Given the description of an element on the screen output the (x, y) to click on. 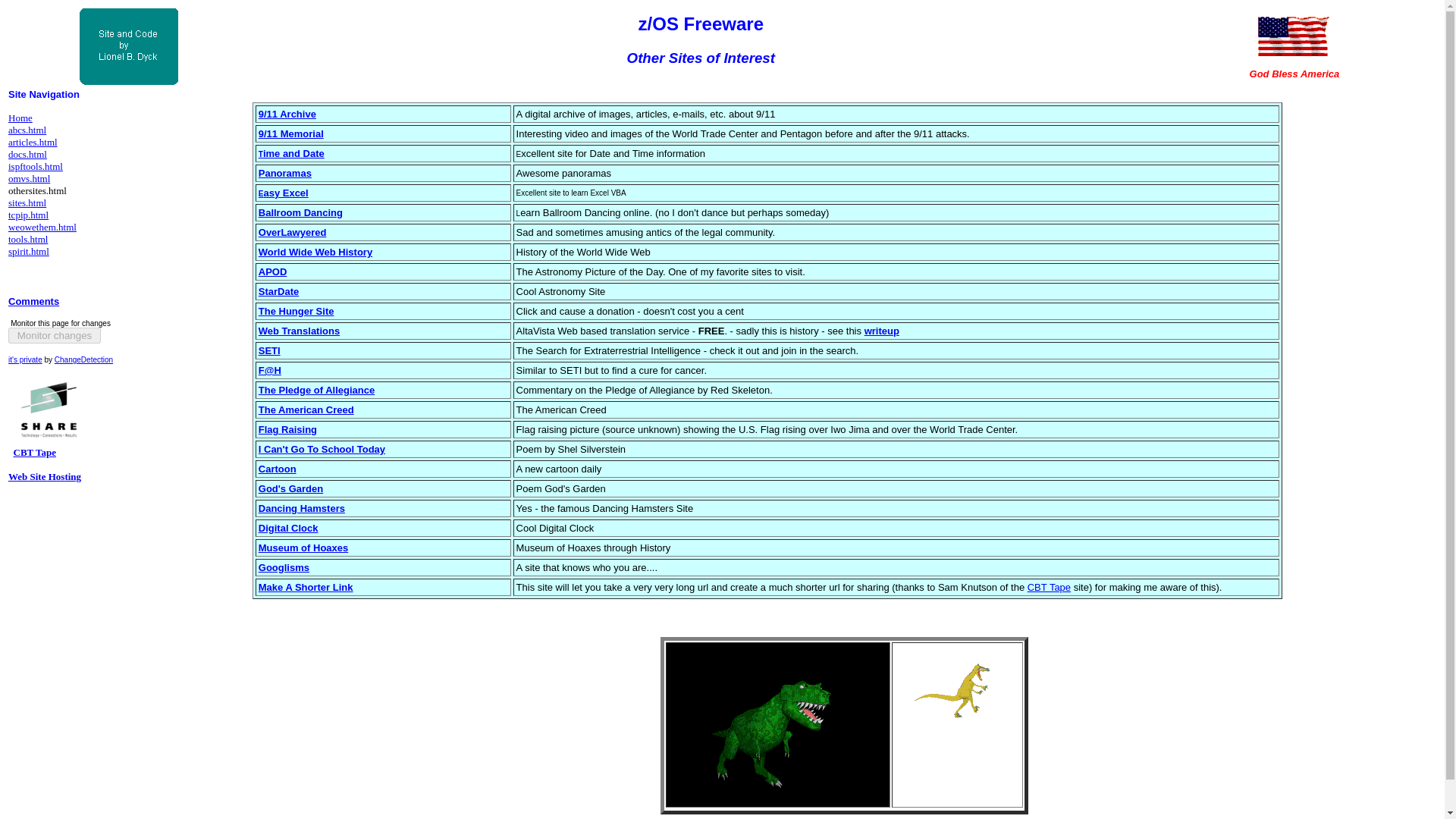
The Pledge of Allegiance (316, 389)
Ballroom Dancing (300, 213)
Easy Excel (283, 193)
weowethem.html (42, 226)
Web Site Hosting (44, 476)
writeup (881, 330)
Comments (33, 301)
 Monitor changes  (54, 335)
abcs.html (27, 129)
OverLawyered (292, 231)
Panoramas (285, 173)
SETI (270, 350)
docs.html (27, 153)
CBT Tape (34, 451)
Web Translations (299, 330)
